Given the description of an element on the screen output the (x, y) to click on. 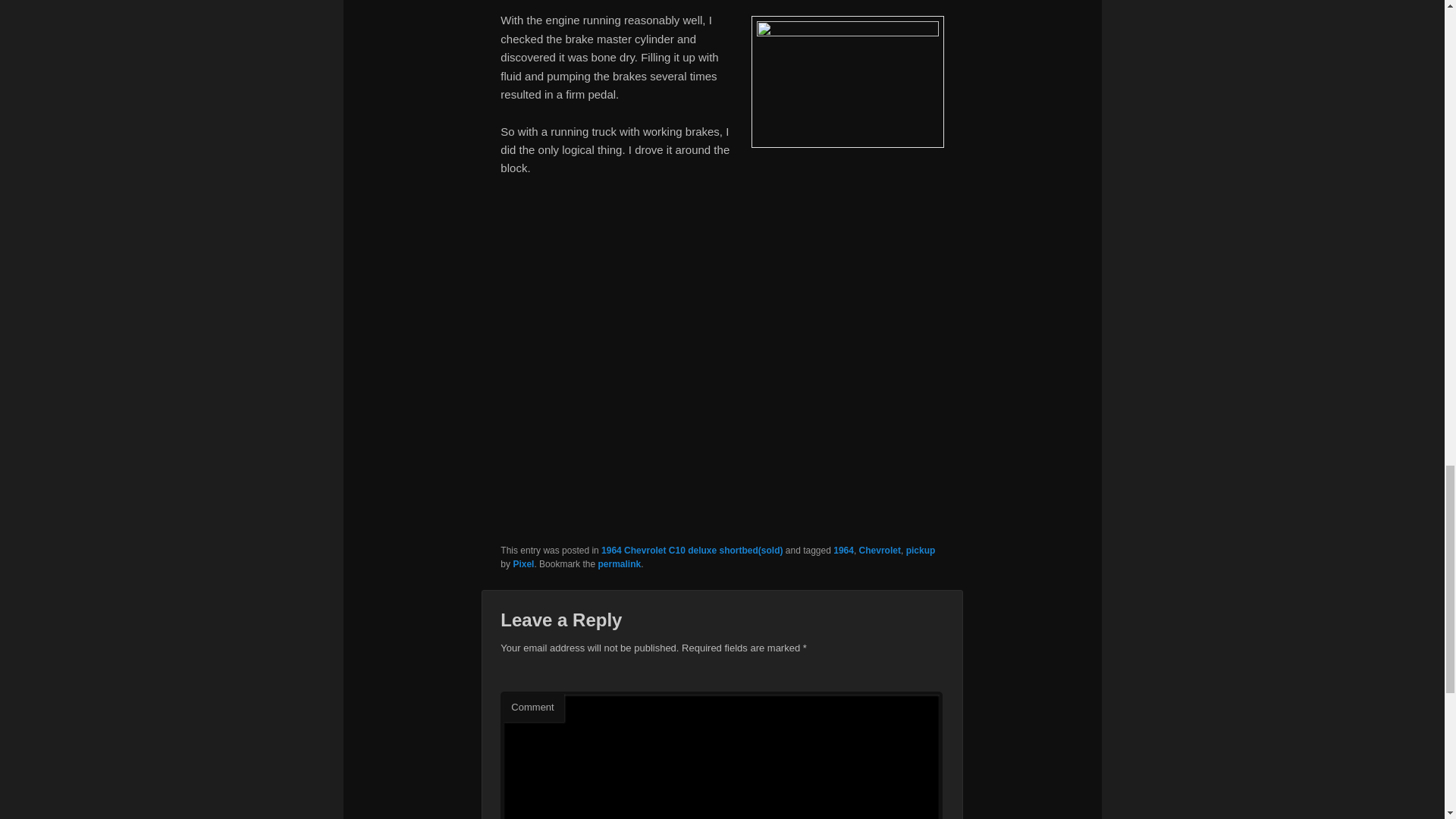
pickup (920, 550)
Chevrolet (880, 550)
1964 (842, 550)
Pixel (523, 563)
permalink (618, 563)
